Given the description of an element on the screen output the (x, y) to click on. 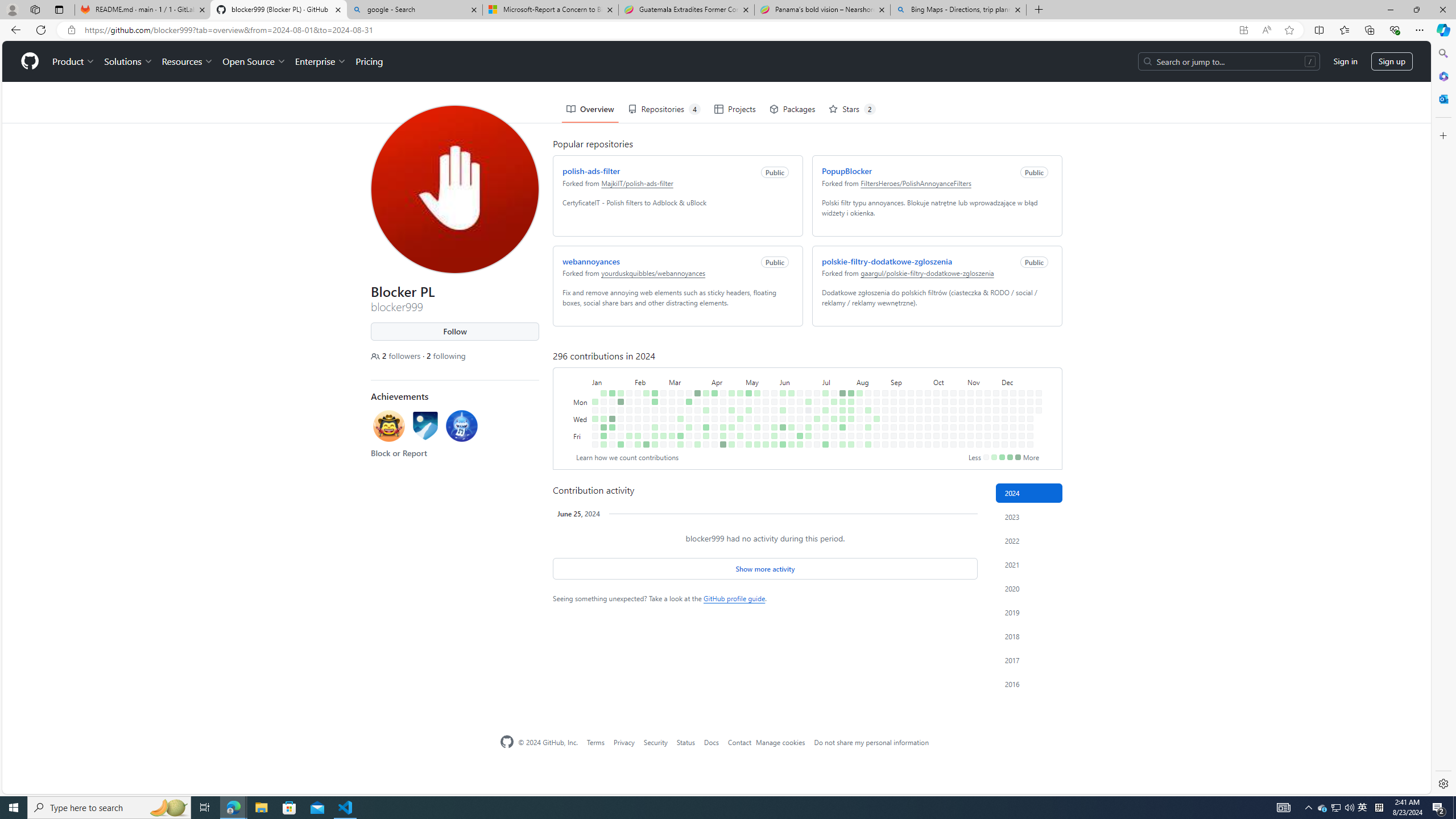
February (647, 339)
No contributions on October 23rd. (950, 377)
No contributions on February 21st. (652, 377)
January (609, 339)
No contributions on November 6th. (968, 377)
No contributions on February 5th. (635, 360)
Projects (732, 67)
6 contributions on July 25th. (840, 386)
No contributions on November 7th. (968, 386)
Pricing (366, 20)
No contributions on August 5th. (857, 360)
No contributions on June 16th. (797, 351)
No contributions on August 9th. (857, 394)
